Given the description of an element on the screen output the (x, y) to click on. 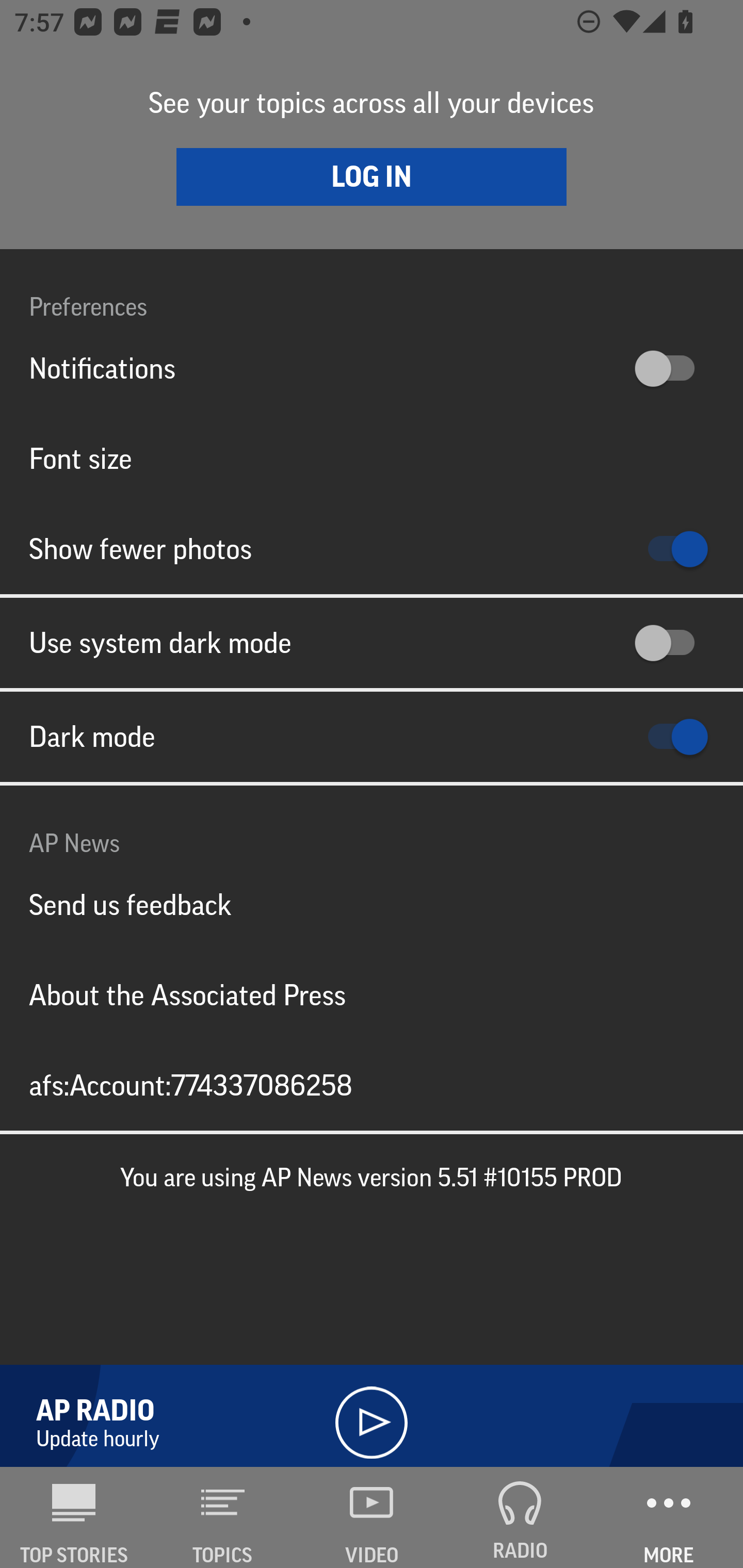
LOG IN (371, 176)
Notifications (371, 368)
Font size (371, 458)
Show fewer photos (371, 548)
Use system dark mode (371, 642)
Dark mode (371, 736)
Send us feedback (371, 904)
About the Associated Press (371, 994)
afs:Account:774337086258 (371, 1084)
AP News TOP STORIES (74, 1517)
TOPICS (222, 1517)
VIDEO (371, 1517)
RADIO (519, 1517)
MORE (668, 1517)
